Given the description of an element on the screen output the (x, y) to click on. 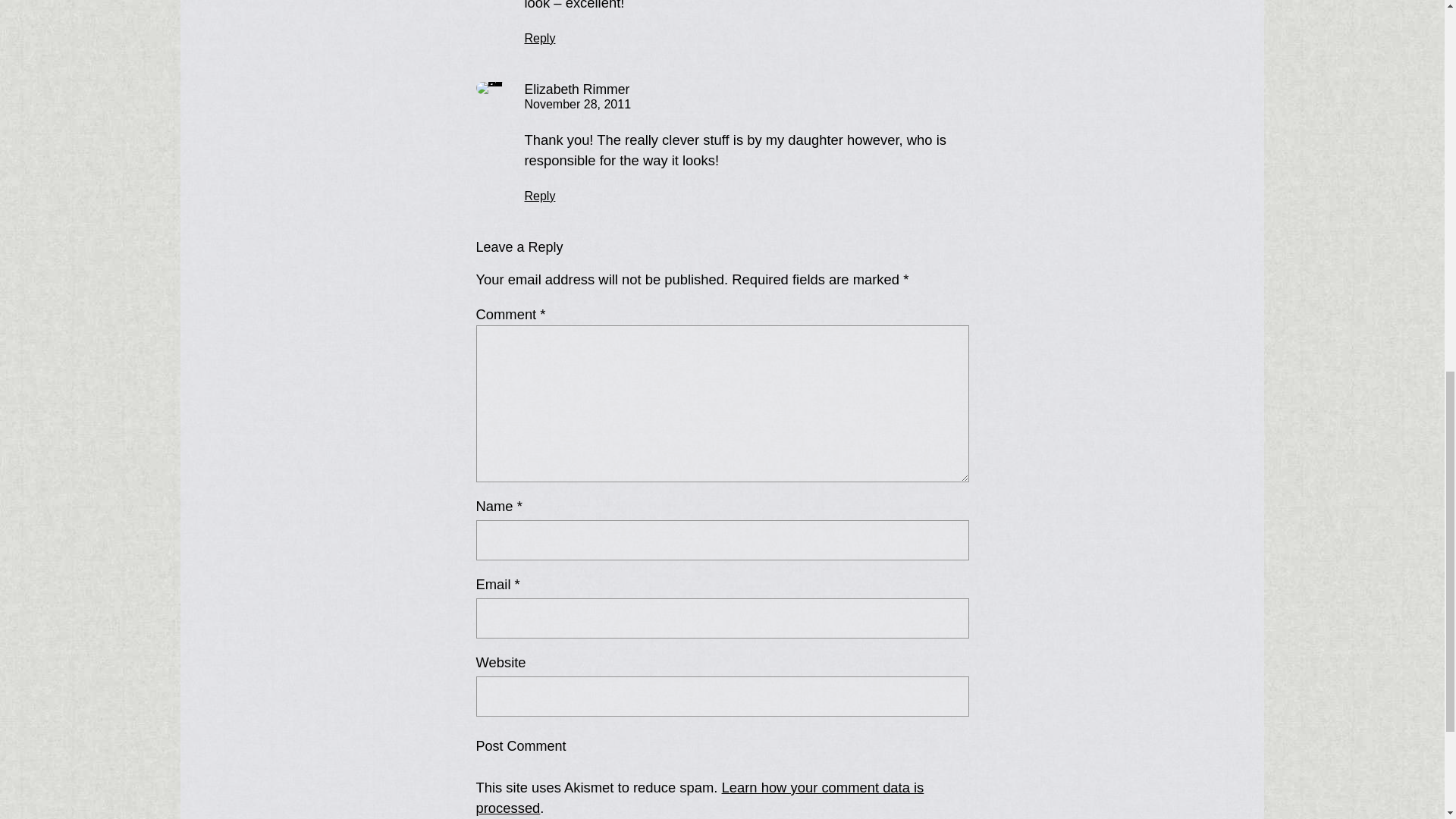
November 28, 2011 (577, 103)
Learn how your comment data is processed (700, 797)
Post Comment (533, 746)
Reply (540, 38)
Reply (540, 195)
Elizabeth Rimmer (577, 89)
Post Comment (533, 746)
